Given the description of an element on the screen output the (x, y) to click on. 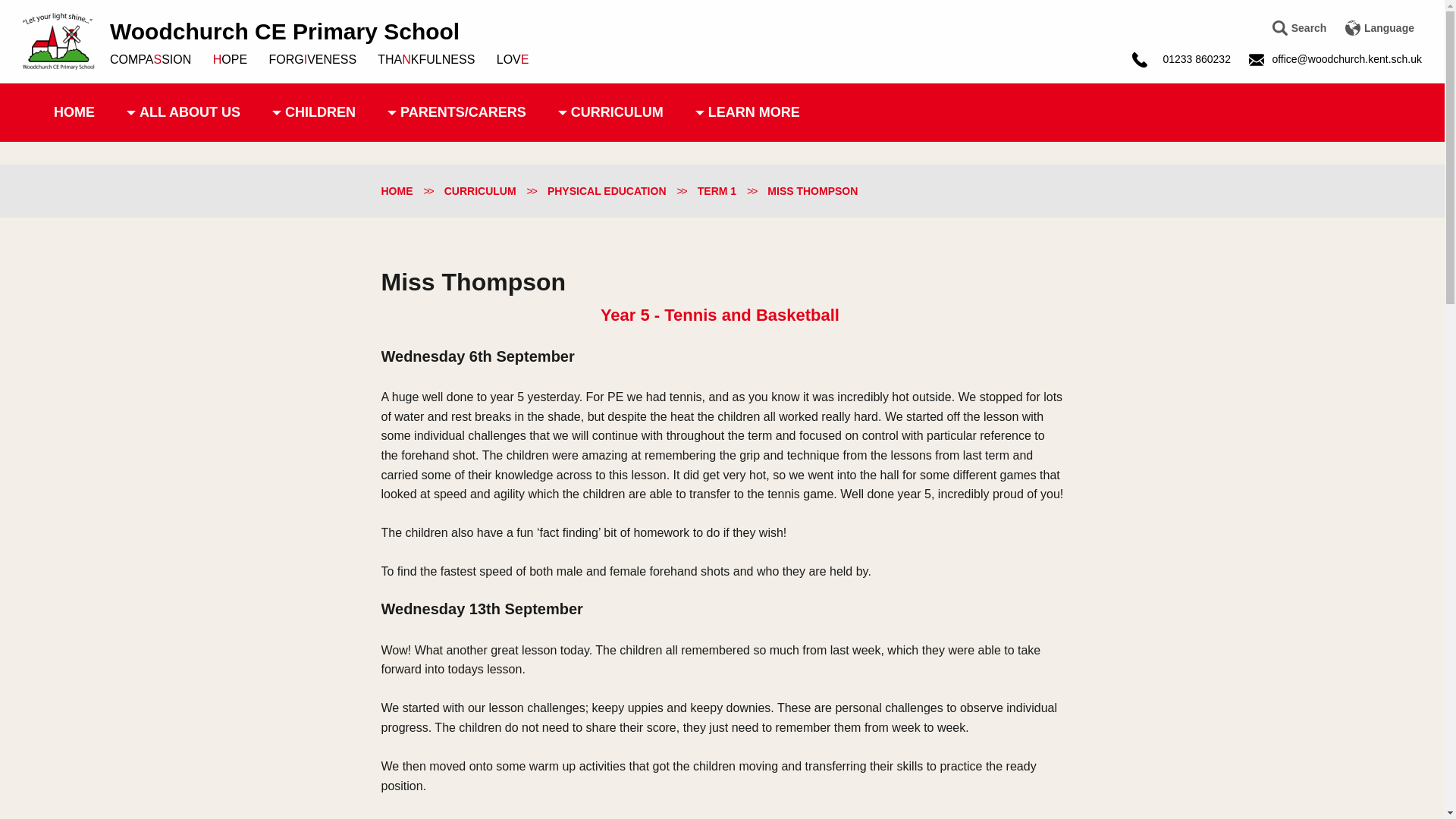
Home Page (58, 41)
01233 860232 (1192, 58)
HOME (73, 112)
CHILDREN (313, 112)
ALL ABOUT US (183, 112)
